Given the description of an element on the screen output the (x, y) to click on. 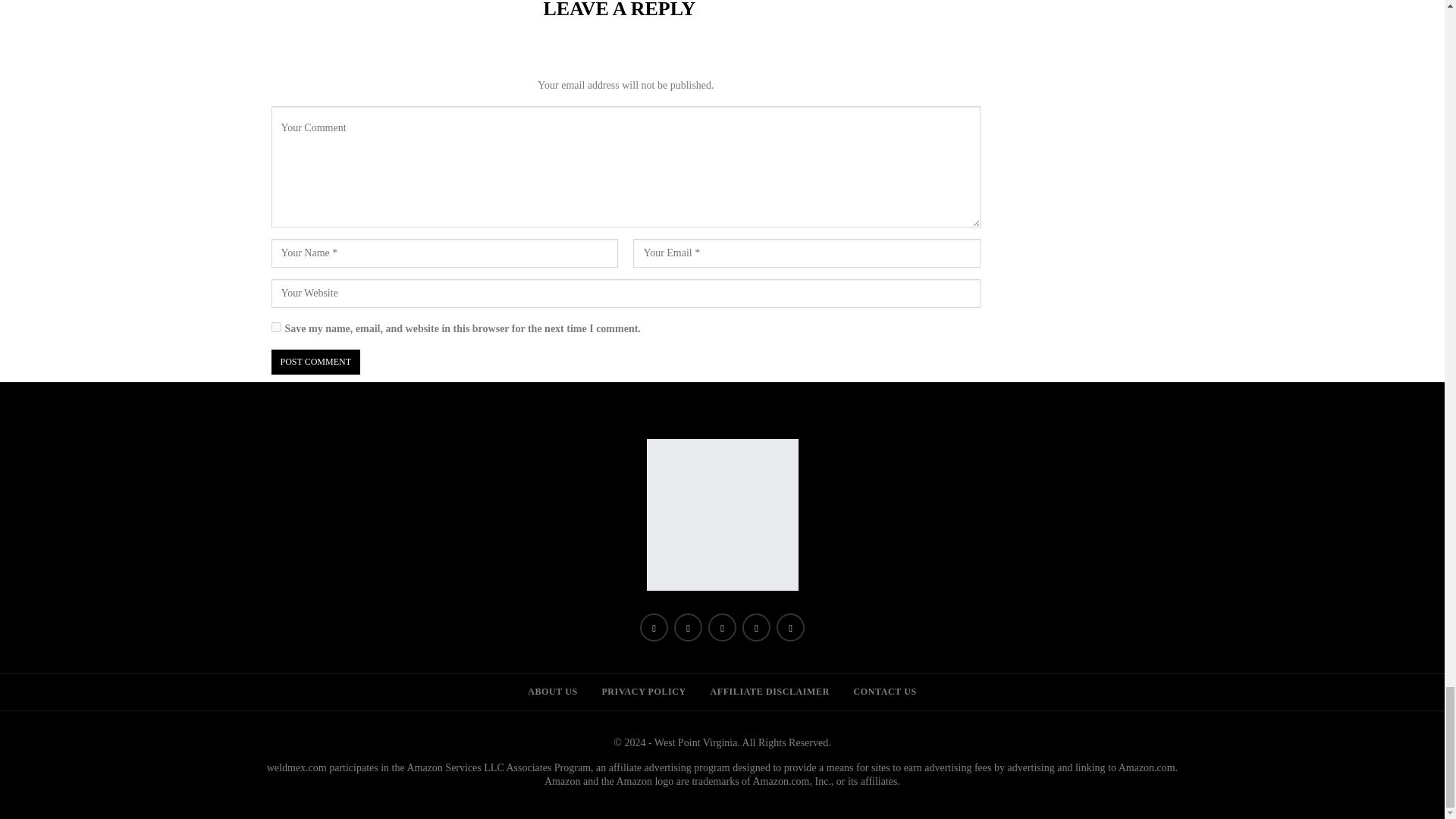
Post Comment (314, 361)
yes (275, 327)
